Given the description of an element on the screen output the (x, y) to click on. 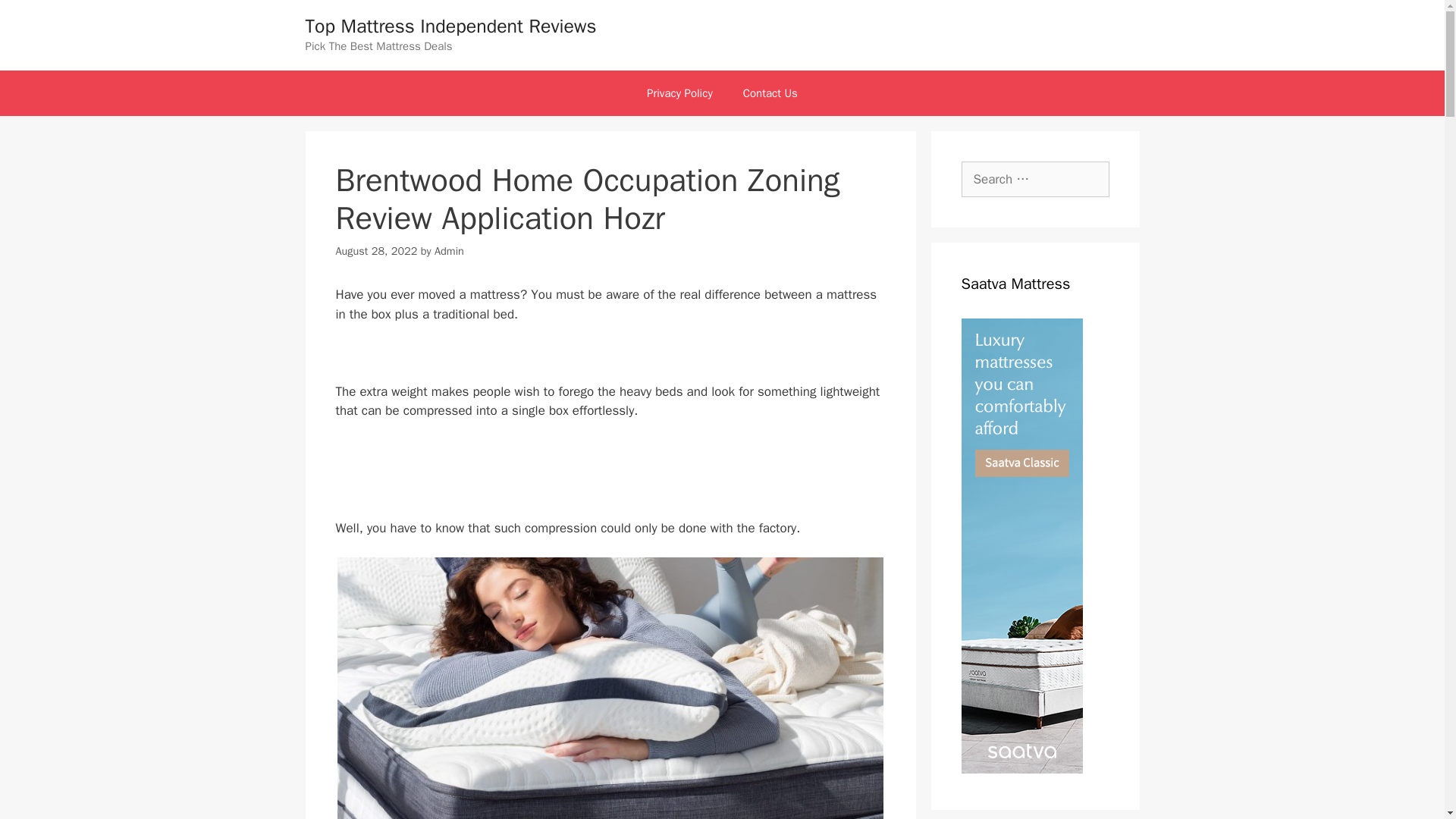
Contact Us (770, 92)
View all posts by Admin (448, 250)
Search for: (1034, 178)
Top Mattress Independent Reviews (449, 25)
Admin (448, 250)
Privacy Policy (679, 92)
Search (35, 18)
